Given the description of an element on the screen output the (x, y) to click on. 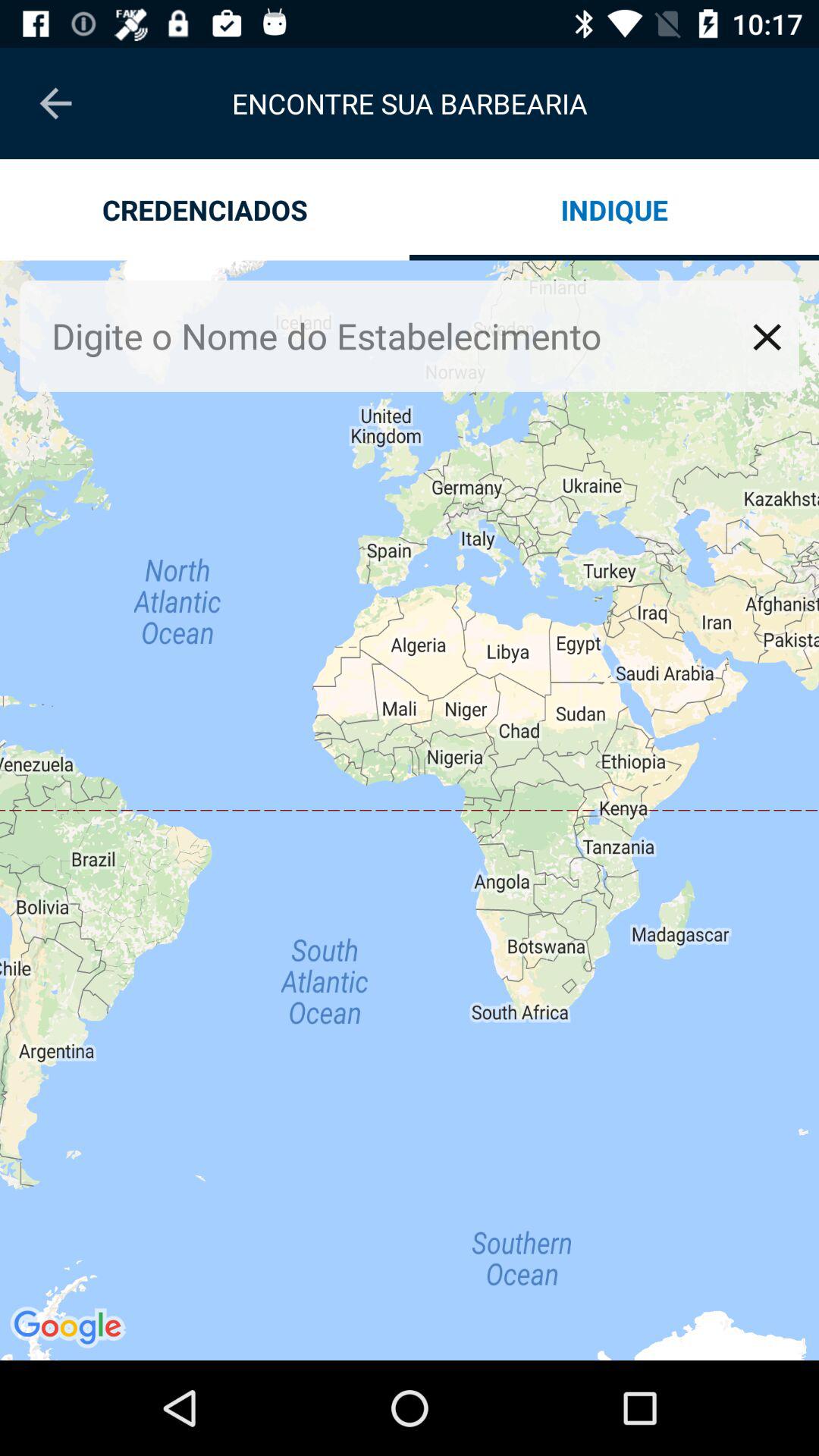
enter the name of establishment (397, 336)
